Given the description of an element on the screen output the (x, y) to click on. 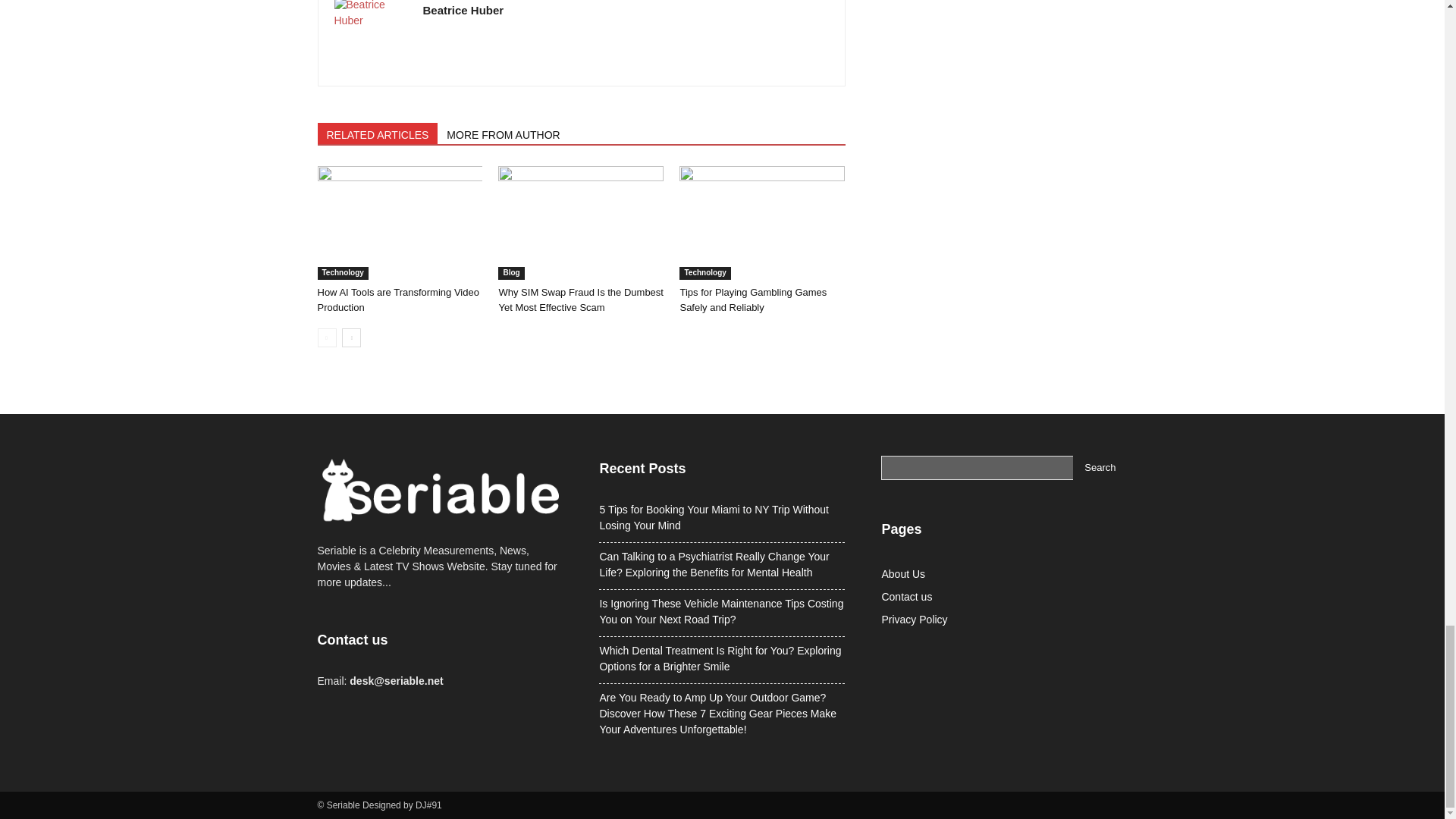
How AI Tools are Transforming Video Production (399, 223)
Tips for Playing Gambling Games Safely and Reliably (761, 223)
How AI Tools are Transforming Video Production (398, 299)
Search (1099, 467)
Why SIM Swap Fraud Is the Dumbest Yet Most Effective Scam (579, 299)
Why SIM Swap Fraud Is the Dumbest Yet Most Effective Scam (580, 223)
